Given the description of an element on the screen output the (x, y) to click on. 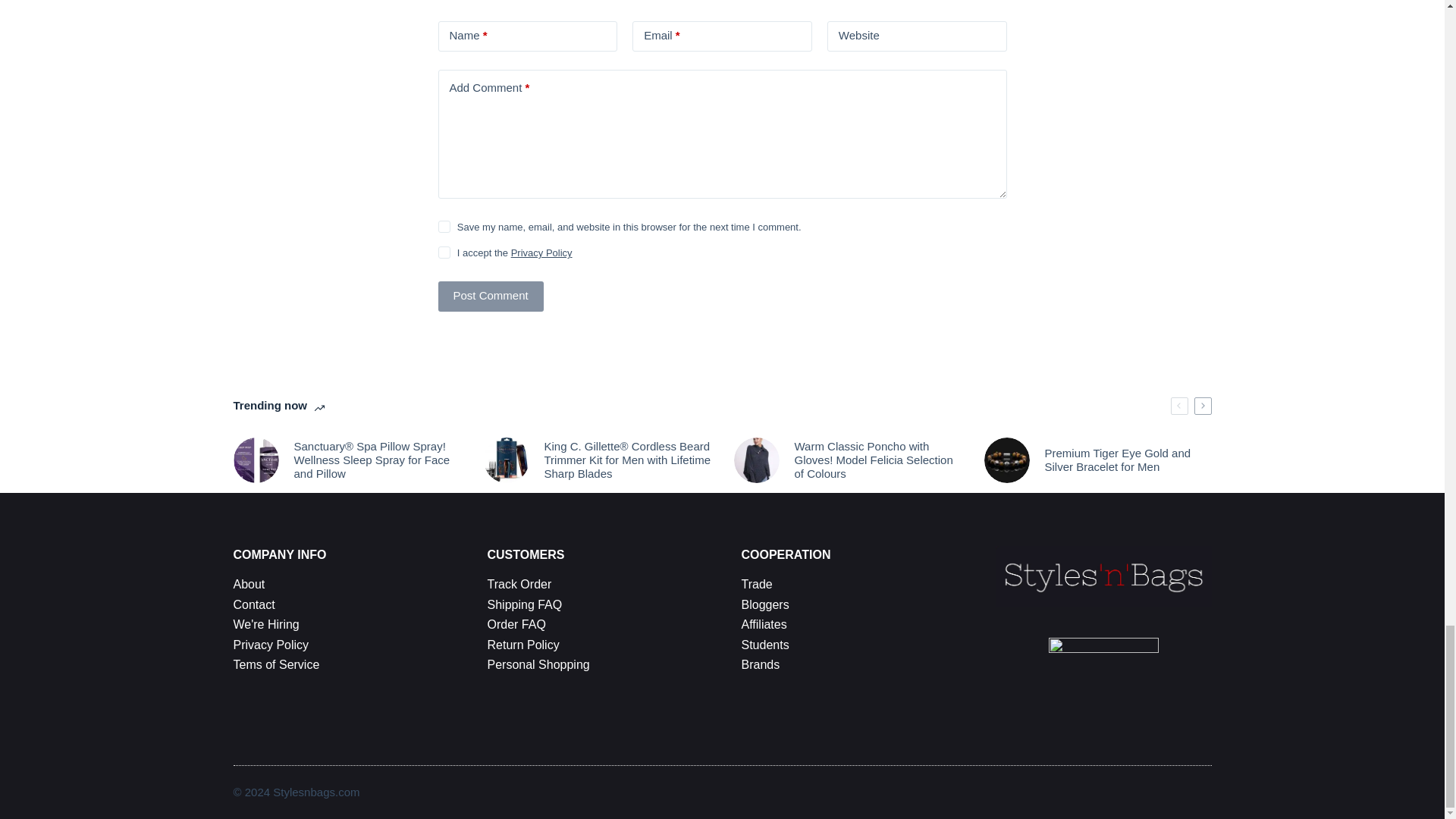
yes (443, 226)
Shop in Style at Stylesnbags.com (1006, 460)
on (443, 252)
Shopping in styles at Stylesnbags.com (506, 460)
Shopping in styles at Stylesnbags.com (755, 460)
